Given the description of an element on the screen output the (x, y) to click on. 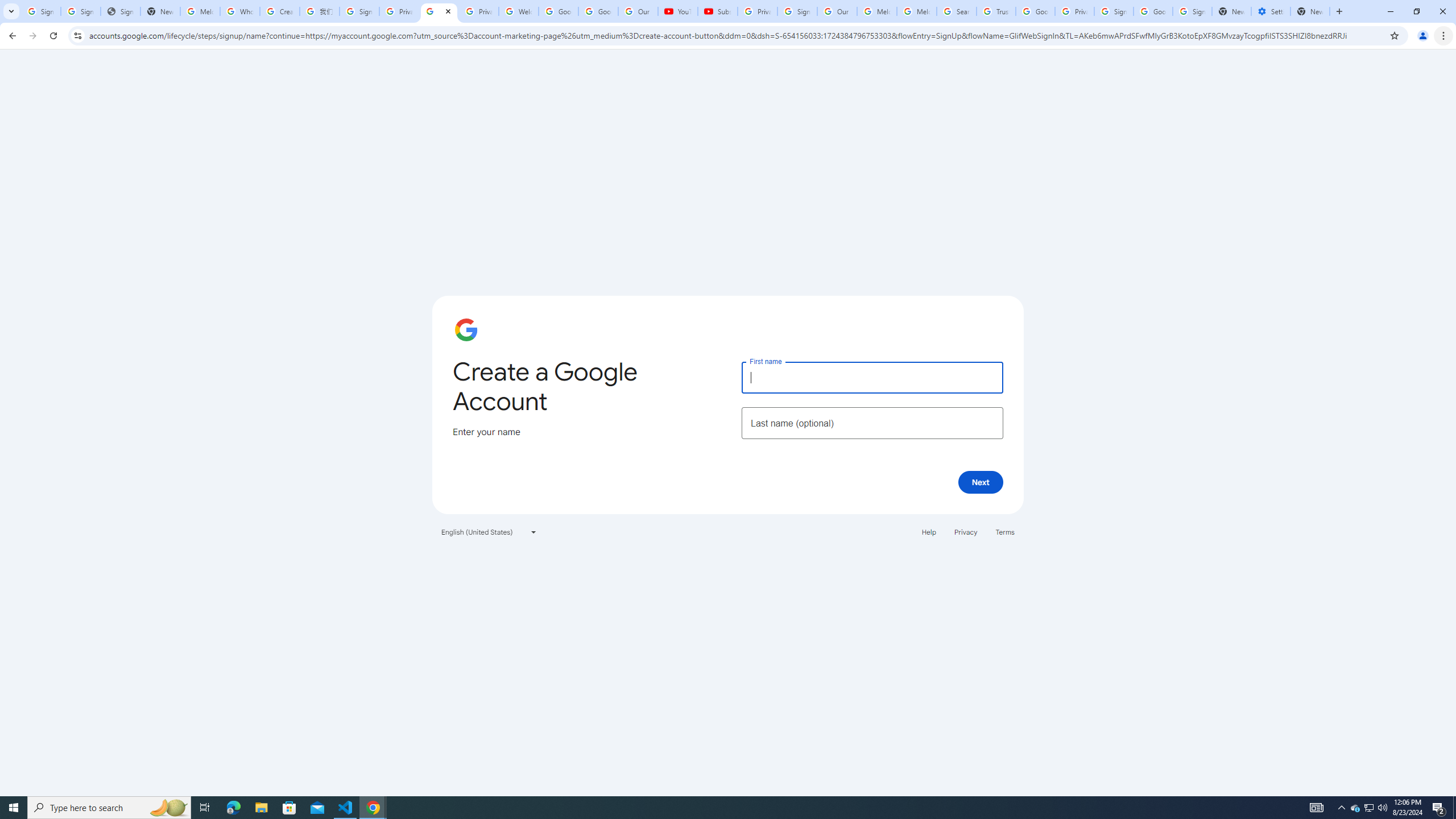
Trusted Information and Content - Google Safety Center (995, 11)
Sign in - Google Accounts (1113, 11)
Create your Google Account (438, 11)
Sign in - Google Accounts (1192, 11)
Sign in - Google Accounts (359, 11)
Help (928, 531)
